Given the description of an element on the screen output the (x, y) to click on. 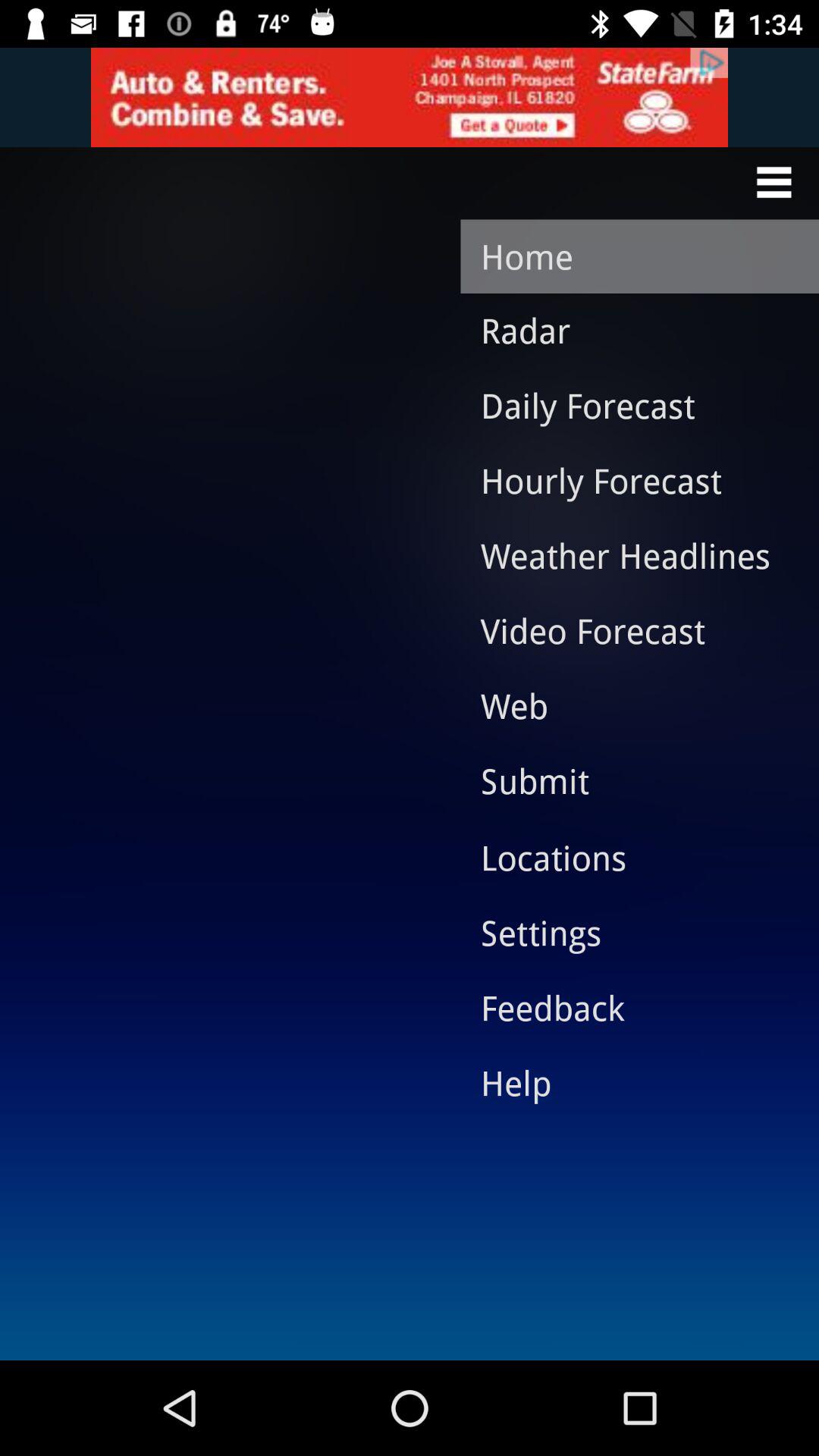
open advertisement (409, 97)
